Given the description of an element on the screen output the (x, y) to click on. 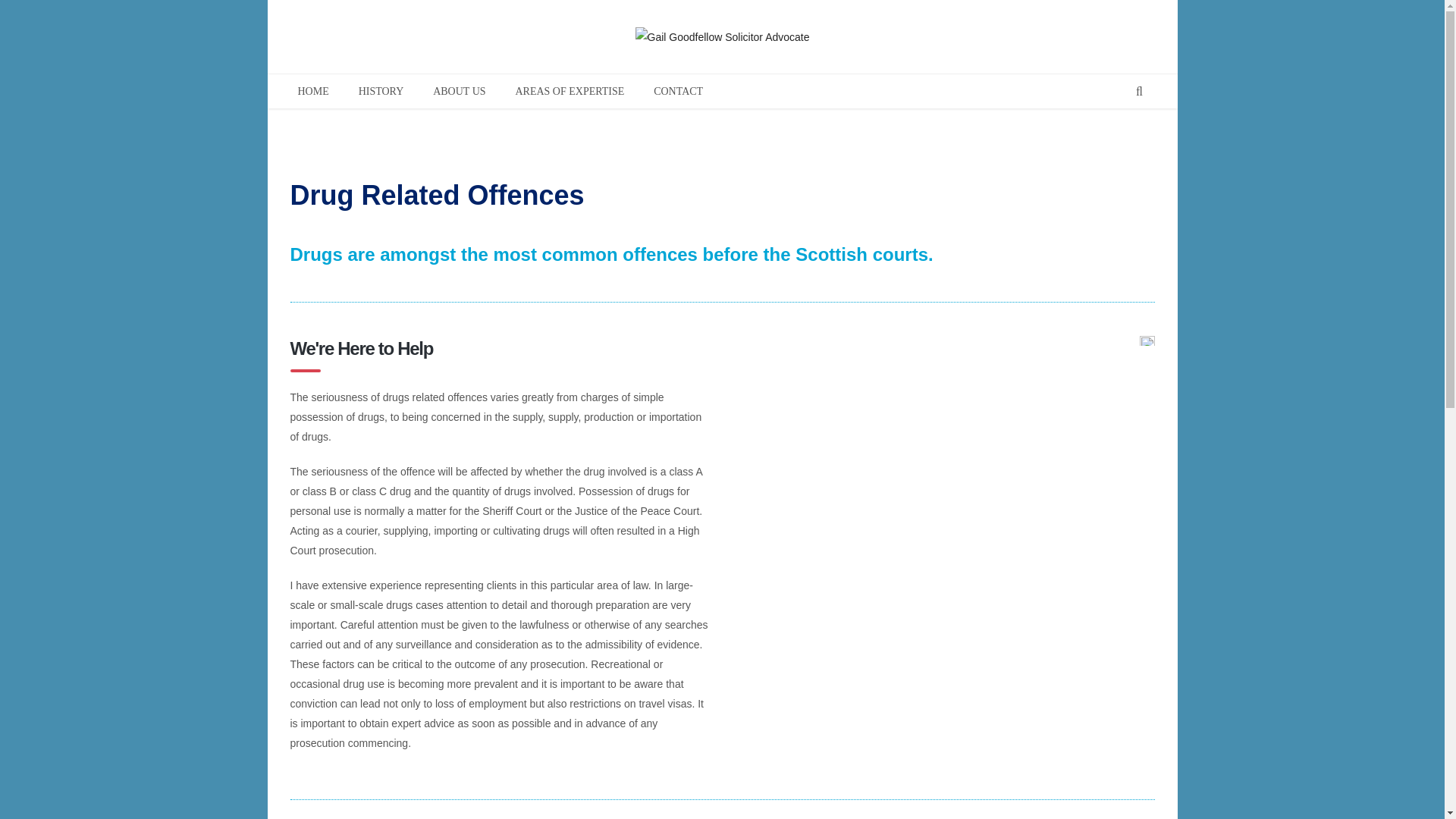
AREAS OF EXPERTISE (568, 91)
CONTACT (678, 91)
Gail Goodfellow Solicitor Advocate (721, 36)
HISTORY (381, 91)
ABOUT US (459, 91)
HOME (312, 91)
